Given the description of an element on the screen output the (x, y) to click on. 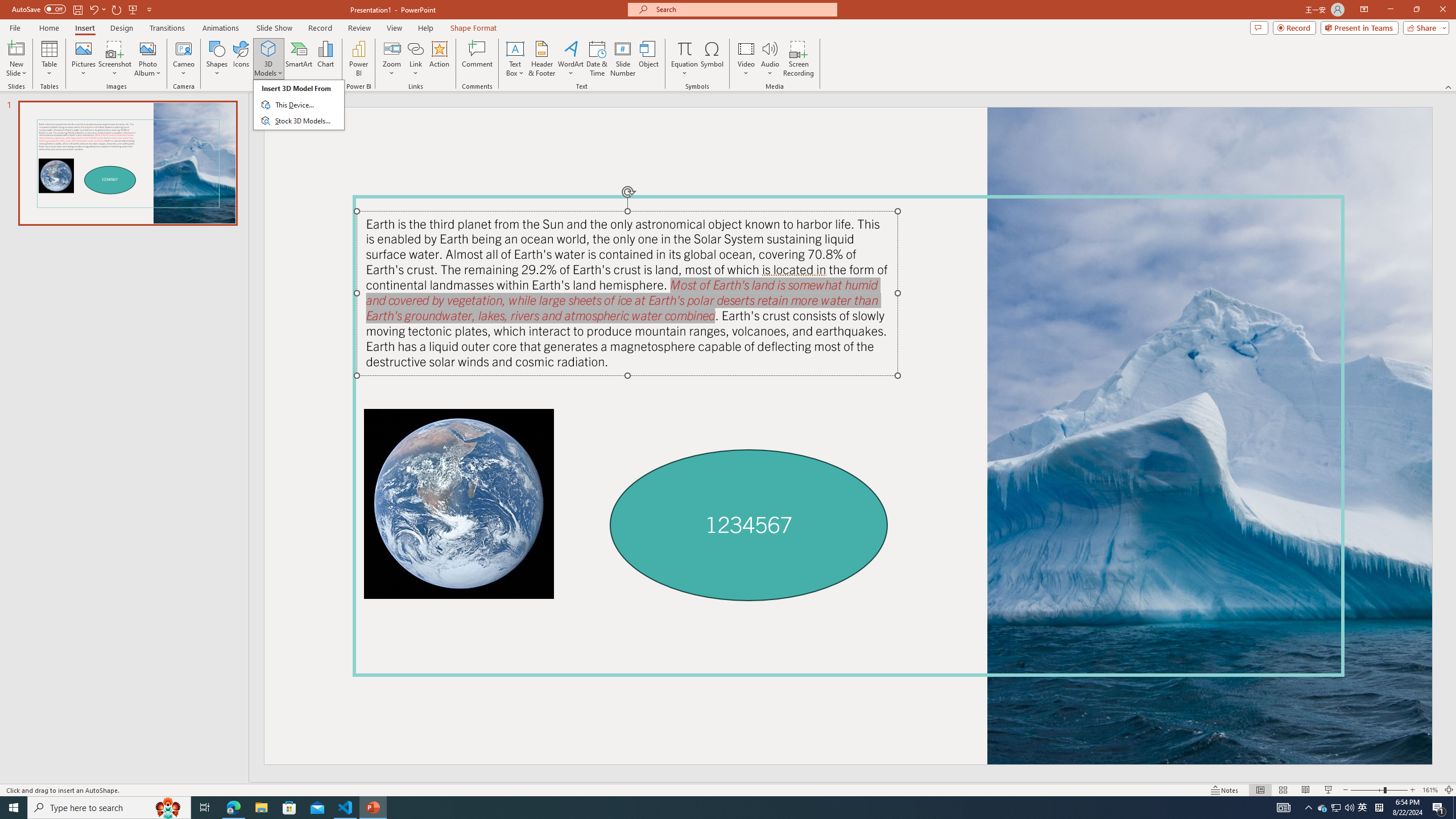
Photo Album... (147, 58)
Draw Horizontal Text Box (515, 48)
